Given the description of an element on the screen output the (x, y) to click on. 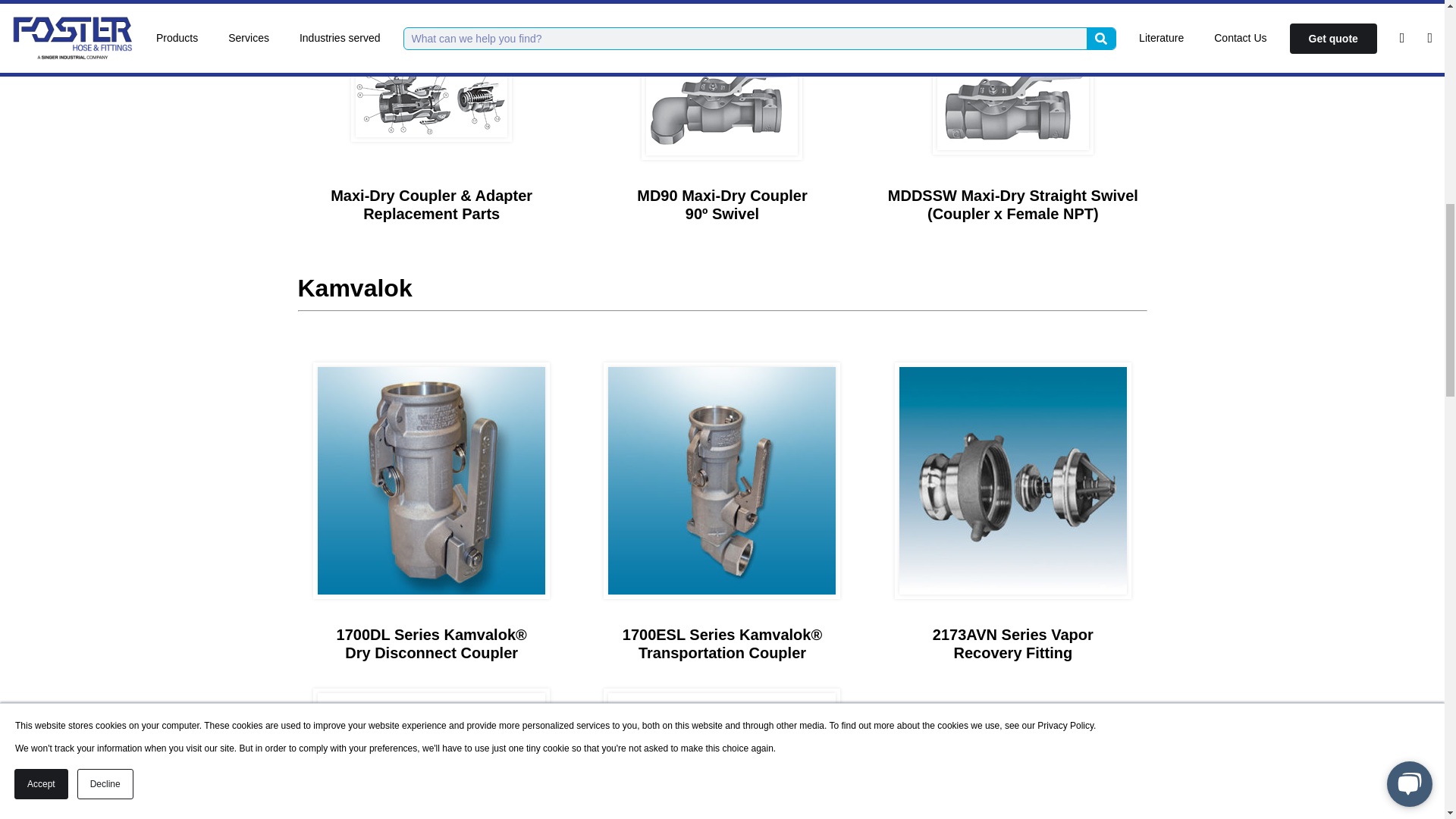
1 (430, 480)
3 (1012, 480)
5 (721, 755)
2 (721, 480)
a1212 (721, 108)
a1211 (430, 99)
4 (430, 755)
